Given the description of an element on the screen output the (x, y) to click on. 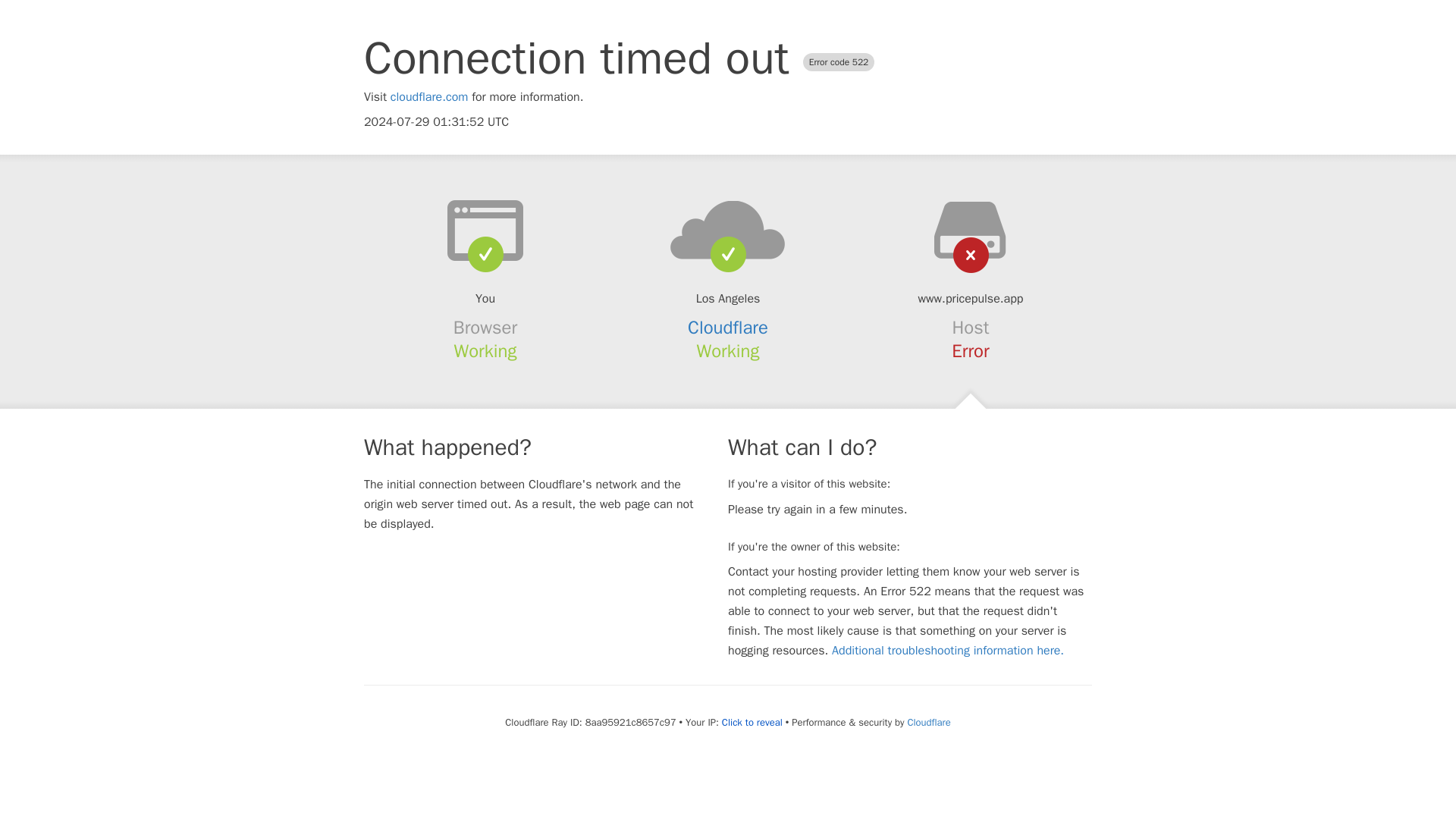
Click to reveal (752, 722)
Cloudflare (727, 327)
Additional troubleshooting information here. (947, 650)
cloudflare.com (429, 96)
Cloudflare (928, 721)
